Given the description of an element on the screen output the (x, y) to click on. 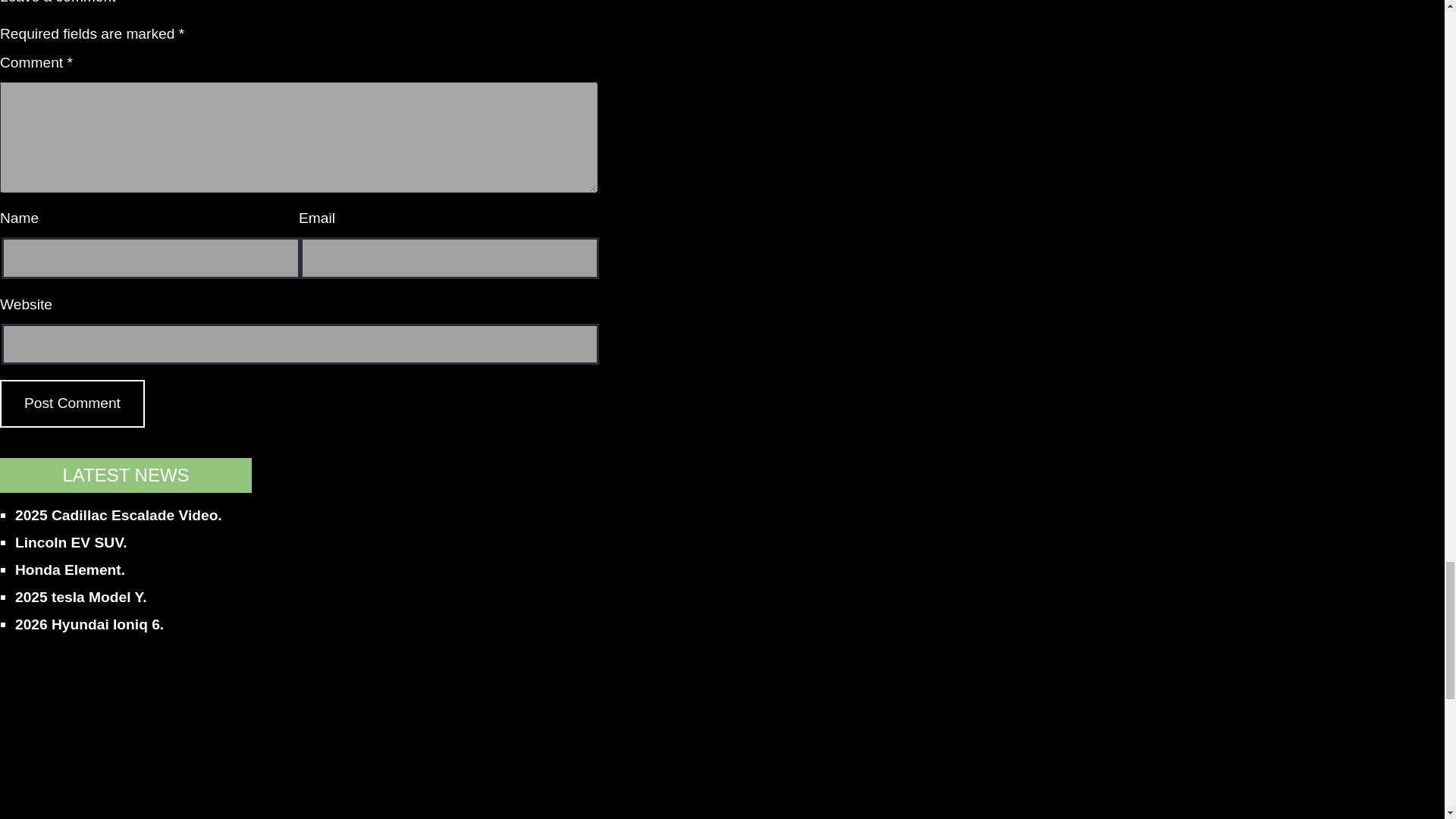
2026 Hyundai Ioniq 6. (88, 624)
Honda Element. (69, 569)
Post Comment (72, 403)
2025 tesla Model Y. (80, 596)
Post Comment (72, 403)
2025 tesla Model Y. (80, 596)
Lincoln EV SUV. (71, 542)
2025 Cadillac Escalade Video. (118, 514)
Lincoln EV SUV. (71, 542)
2026 Hyundai Ioniq 6. (88, 624)
Honda Element. (69, 569)
2025 Cadillac Escalade Video. (118, 514)
